Given the description of an element on the screen output the (x, y) to click on. 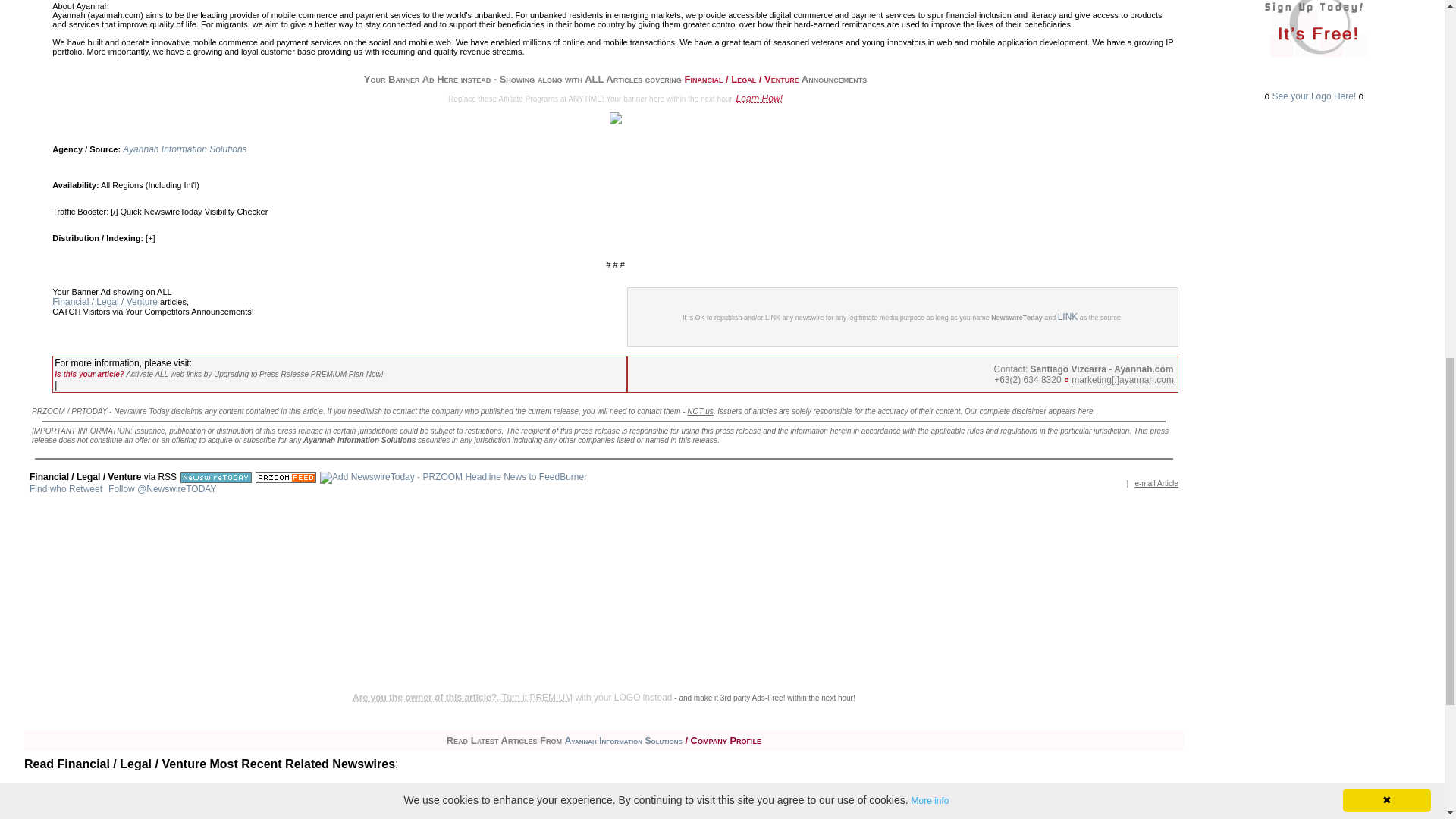
e-mail Article (1156, 481)
Quick NewswireToday (161, 211)
here (1085, 410)
LINK (1068, 317)
Learn How! (759, 98)
Find who Retweet (65, 489)
Ayannah Information Solutions (184, 149)
